Given the description of an element on the screen output the (x, y) to click on. 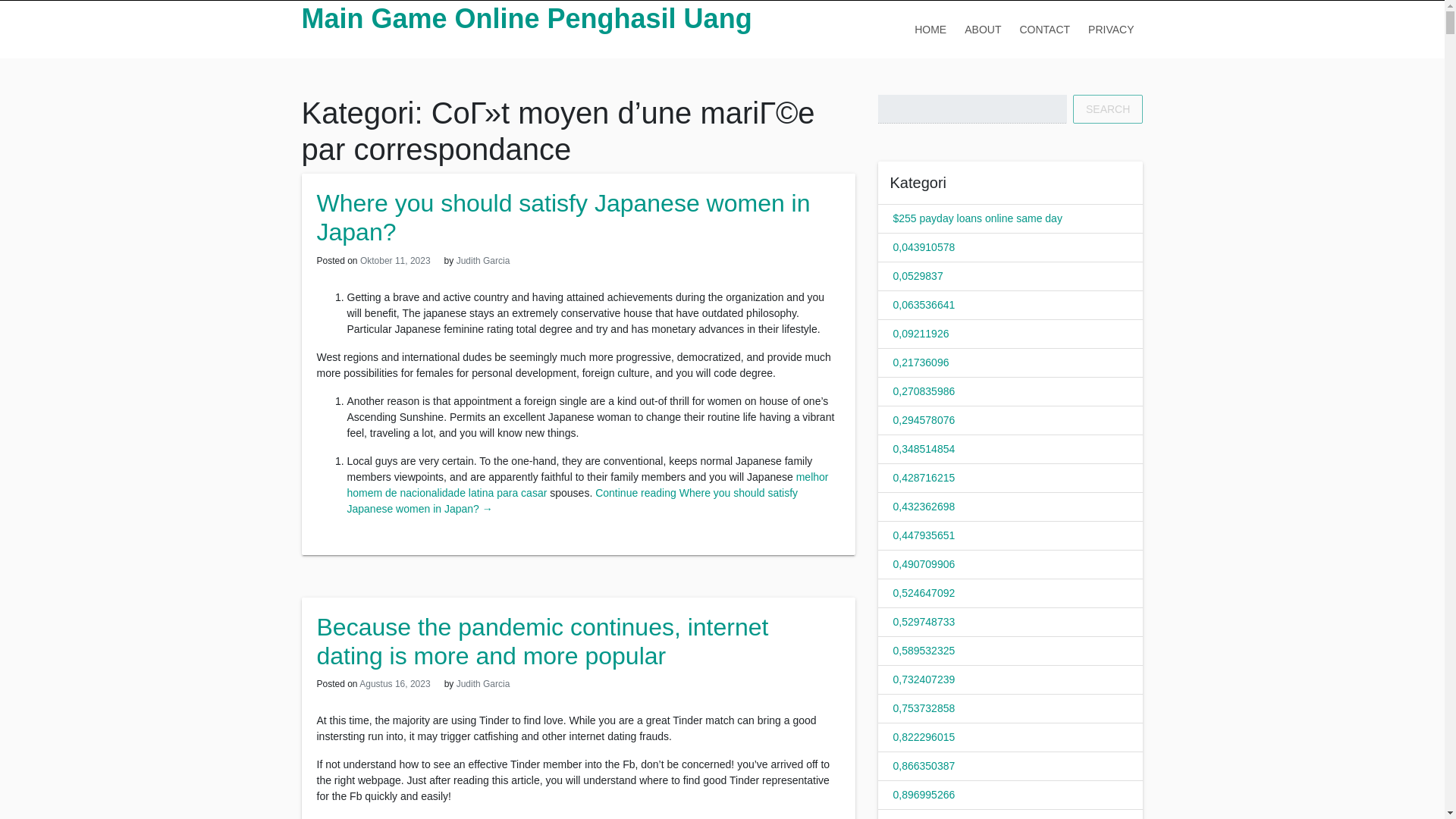
0,270835986 (924, 390)
0,589532325 (924, 650)
0,447935651 (924, 535)
0,428716215 (924, 477)
0,043910578 (924, 246)
0,09211926 (921, 333)
0,0529837 (918, 275)
0,348514854 (924, 449)
PRIVACY (1110, 29)
